Given the description of an element on the screen output the (x, y) to click on. 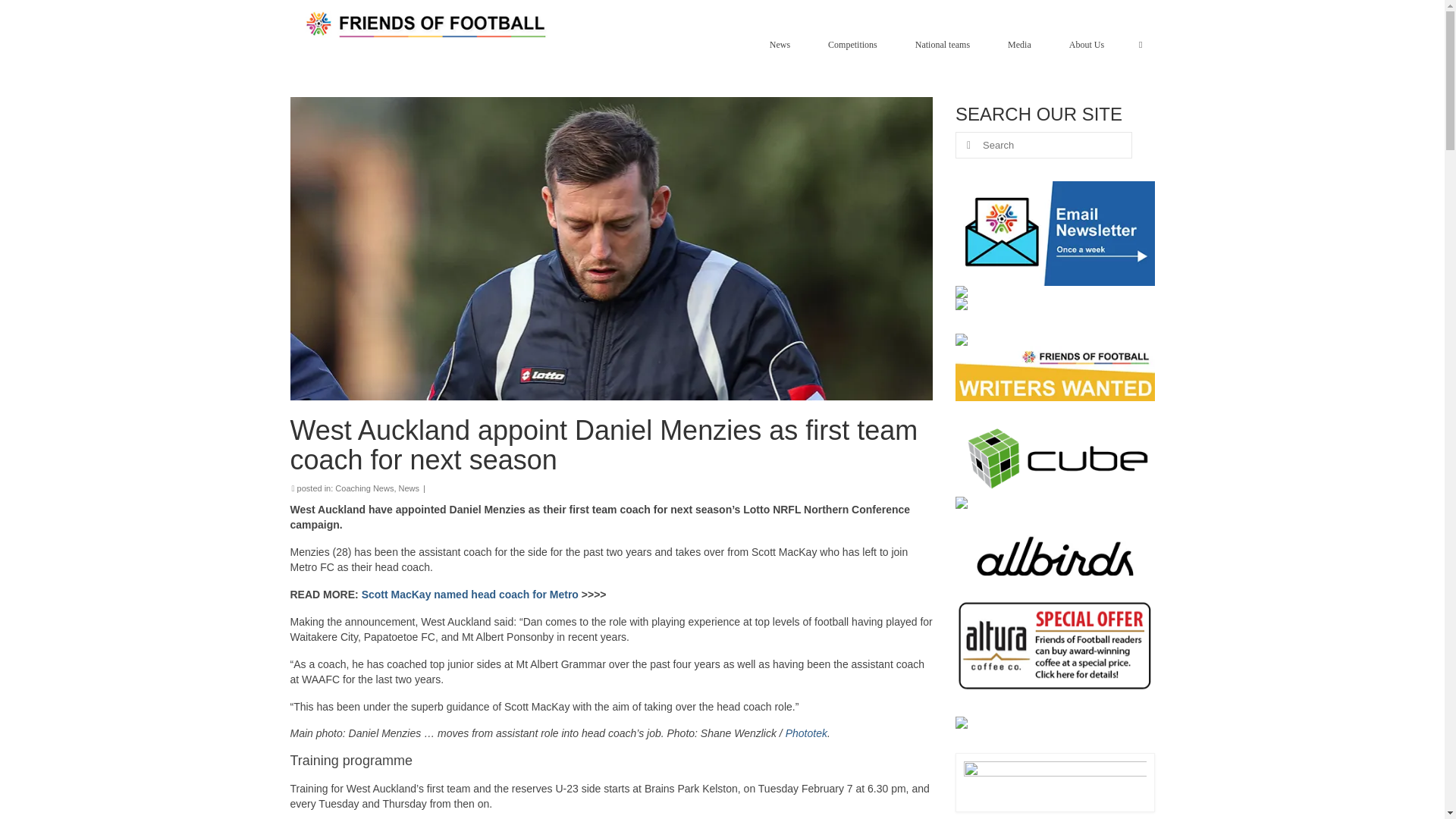
Friends of Football (428, 23)
National teams (945, 44)
News (783, 44)
Media (1023, 44)
About Us (1090, 44)
Competitions (855, 44)
Search (1140, 44)
